Given the description of an element on the screen output the (x, y) to click on. 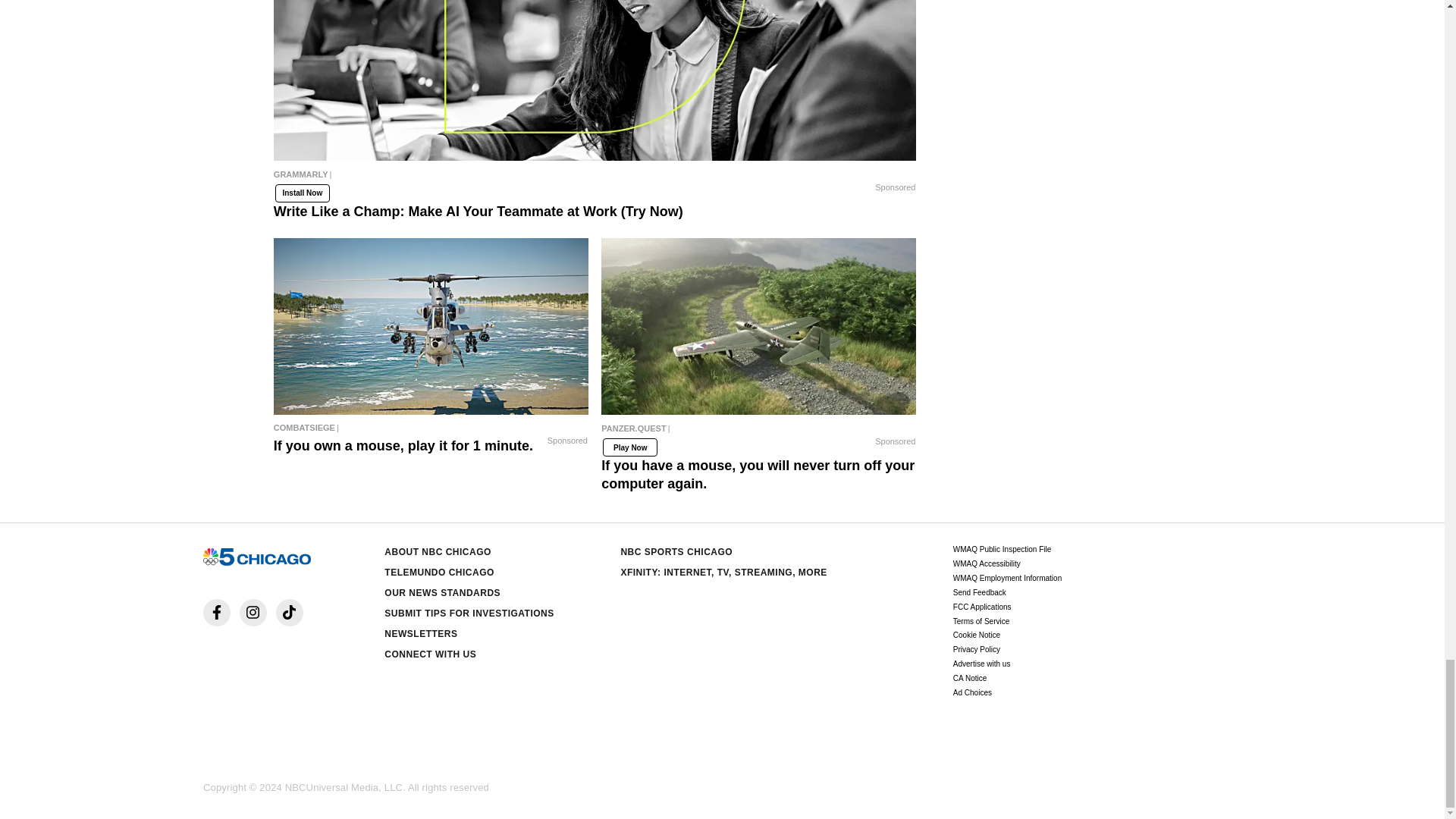
If you own a mouse, play it for 1 minute. (430, 427)
